Given the description of an element on the screen output the (x, y) to click on. 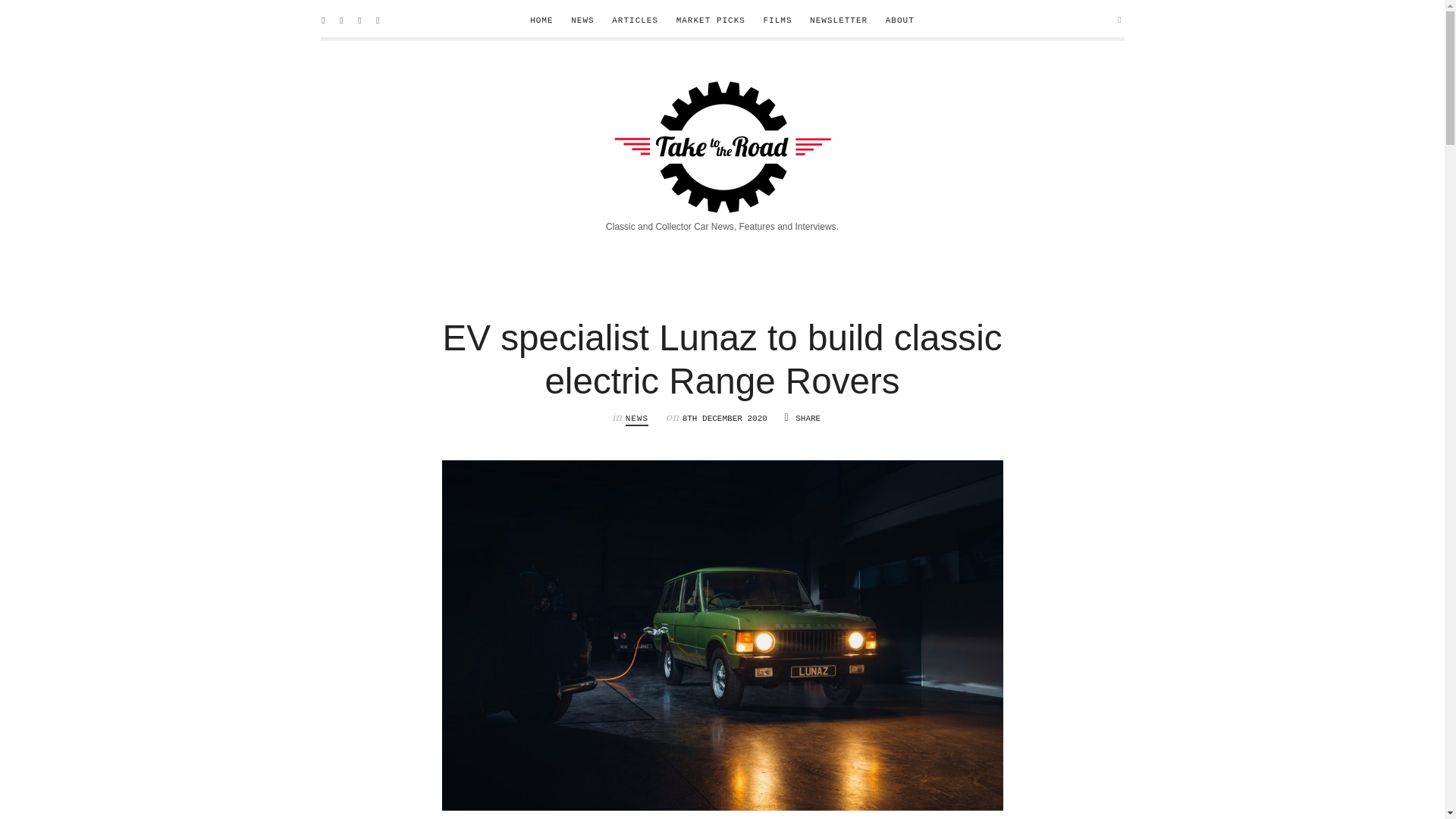
Search (37, 16)
ARTICLES (634, 20)
NEWSLETTER (838, 20)
MARKET PICKS (711, 20)
Take to the Road (722, 144)
8TH DECEMBER 2020 (727, 418)
NEWS (636, 419)
